Given the description of an element on the screen output the (x, y) to click on. 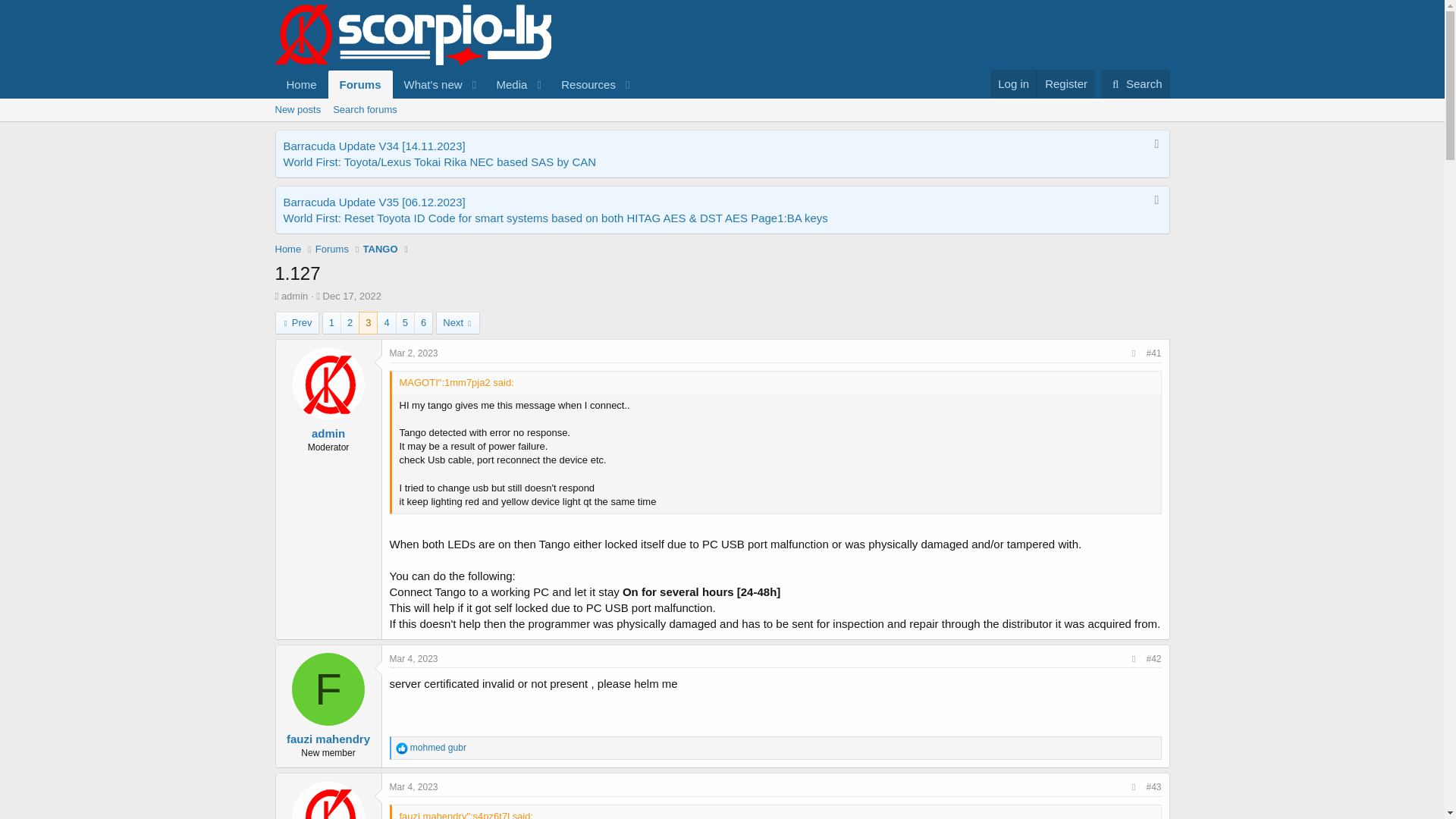
New posts (296, 109)
Search (1135, 83)
Search (1135, 83)
Media (506, 84)
Log in (1013, 83)
Resources (583, 84)
Forums (361, 84)
Mar 4, 2023 at 1:02 PM (414, 787)
Mar 4, 2023 at 11:49 AM (455, 101)
Mar 2, 2023 at 9:20 AM (720, 126)
Search forums (414, 658)
Dec 17, 2022 at 3:55 PM (414, 353)
